Given the description of an element on the screen output the (x, y) to click on. 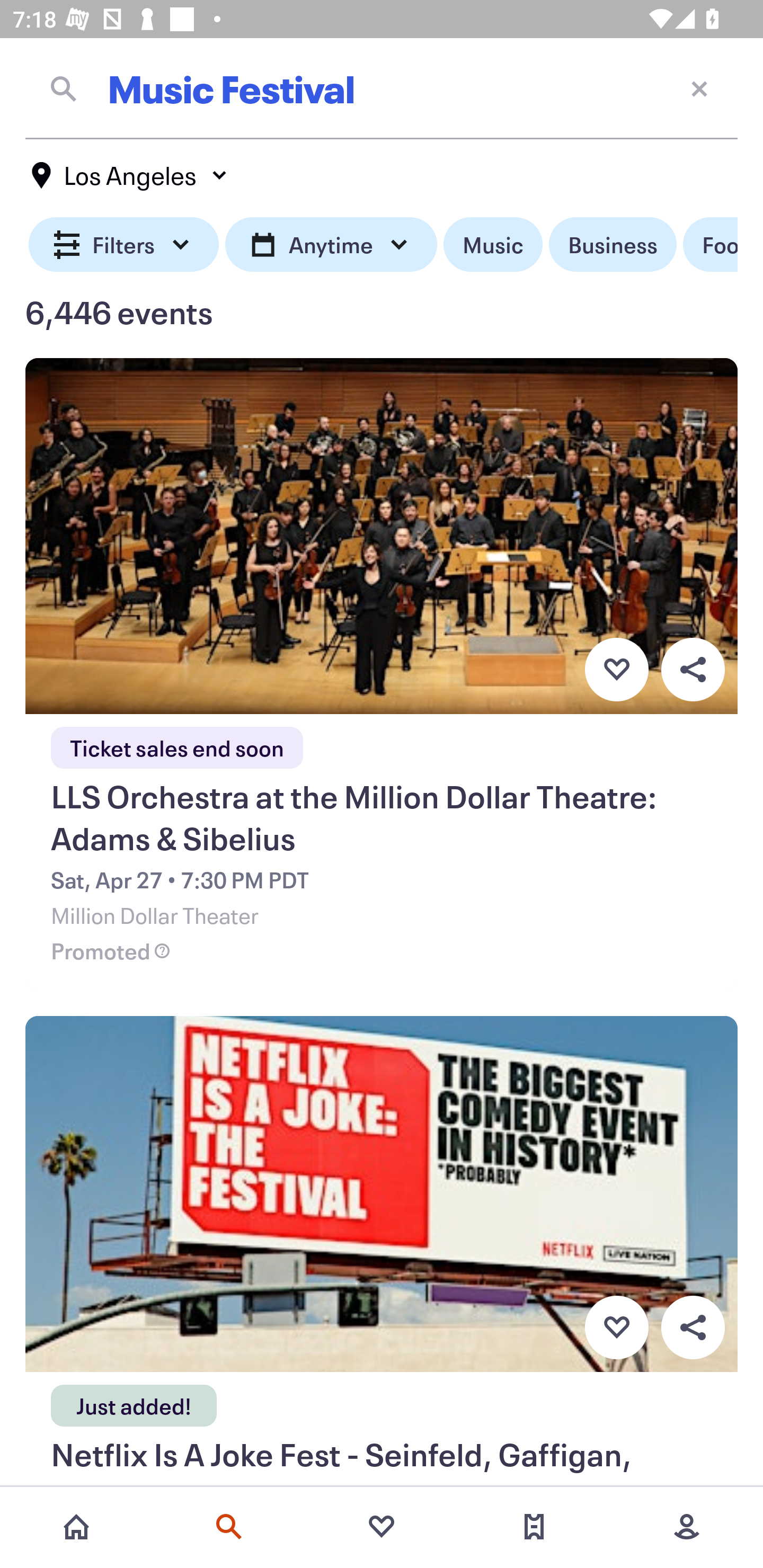
Music Festival Close current screen (381, 88)
Close current screen (699, 88)
Los Angeles (130, 175)
Filters (123, 244)
Anytime (331, 244)
Music (492, 244)
Business (612, 244)
Favorite button (616, 669)
Overflow menu button (692, 669)
Favorite button (616, 1326)
Overflow menu button (692, 1326)
Just added! (133, 1400)
Home (76, 1526)
Search events (228, 1526)
Favorites (381, 1526)
Tickets (533, 1526)
More (686, 1526)
